Given the description of an element on the screen output the (x, y) to click on. 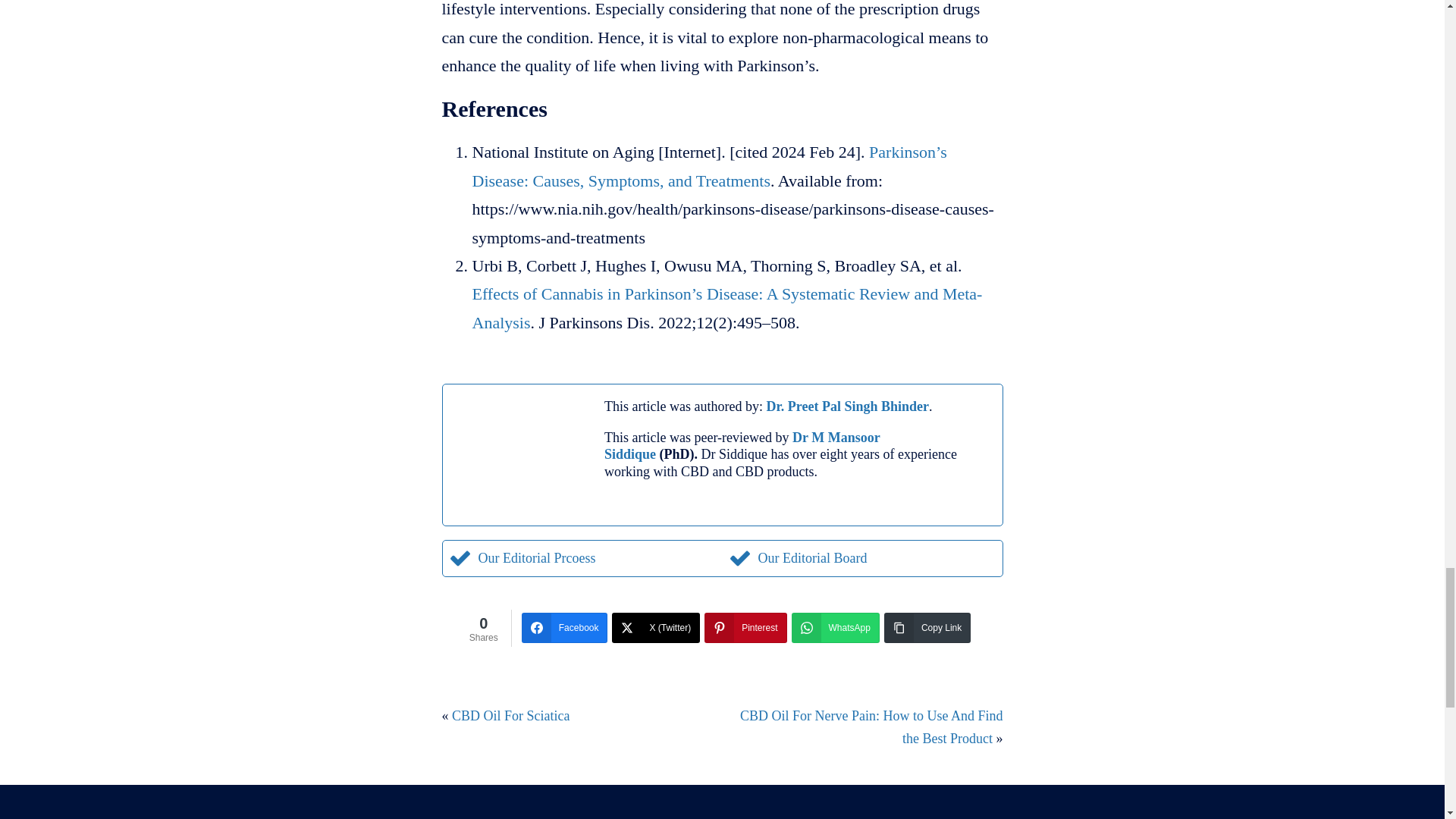
Dr M Mansoor Siddique (741, 445)
WhatsApp (835, 627)
Our Editorial Board (797, 558)
Dr. Preet Pal Singh Bhinder (846, 406)
Copy Link (927, 627)
CBD Oil For Nerve Pain: How to Use And Find the Best Product (871, 727)
CBD Oil For Sciatica (510, 715)
Our Editorial Prcoess (522, 558)
Pinterest (745, 627)
Facebook (564, 627)
